Given the description of an element on the screen output the (x, y) to click on. 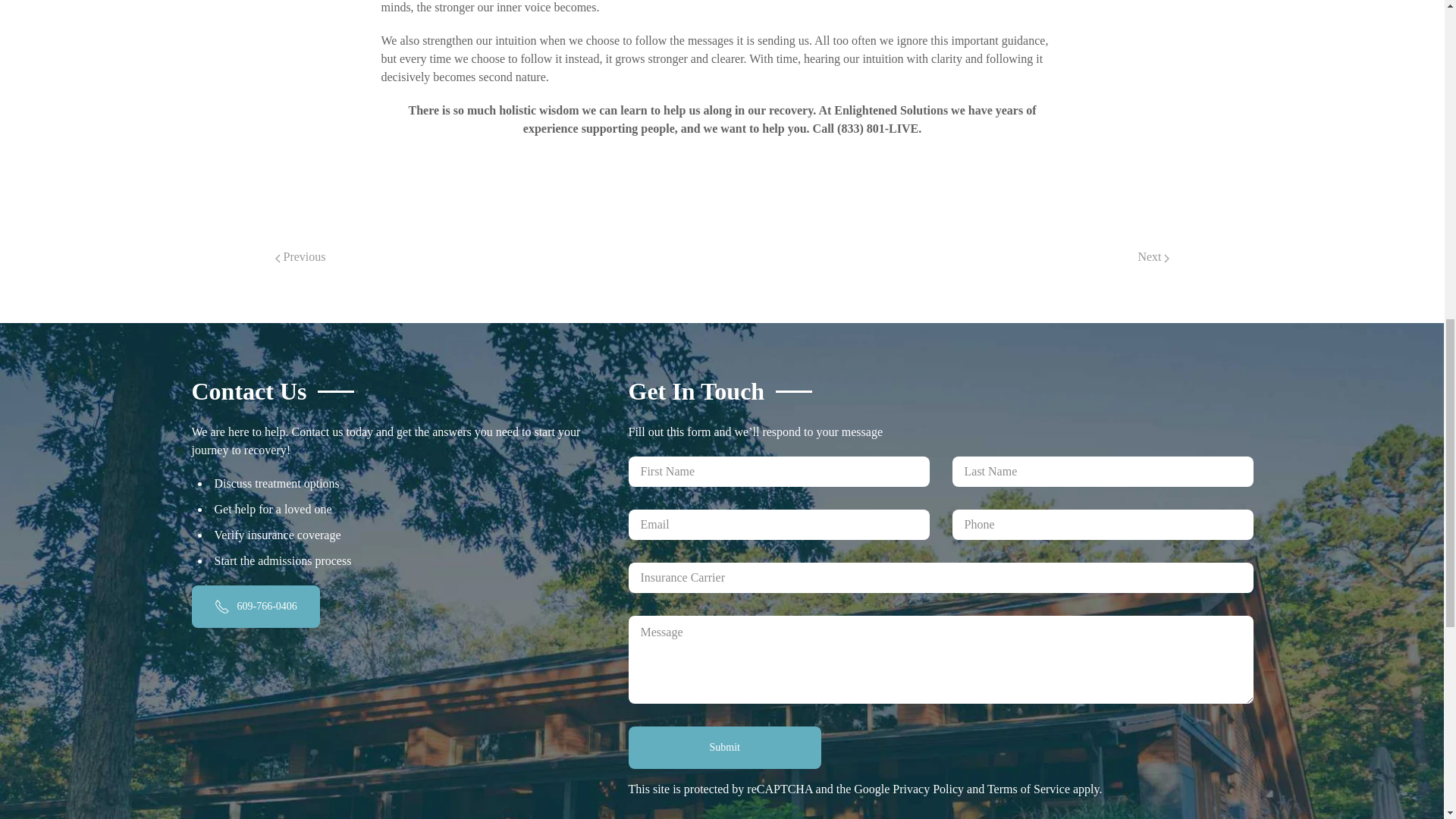
Submit (724, 747)
